Given the description of an element on the screen output the (x, y) to click on. 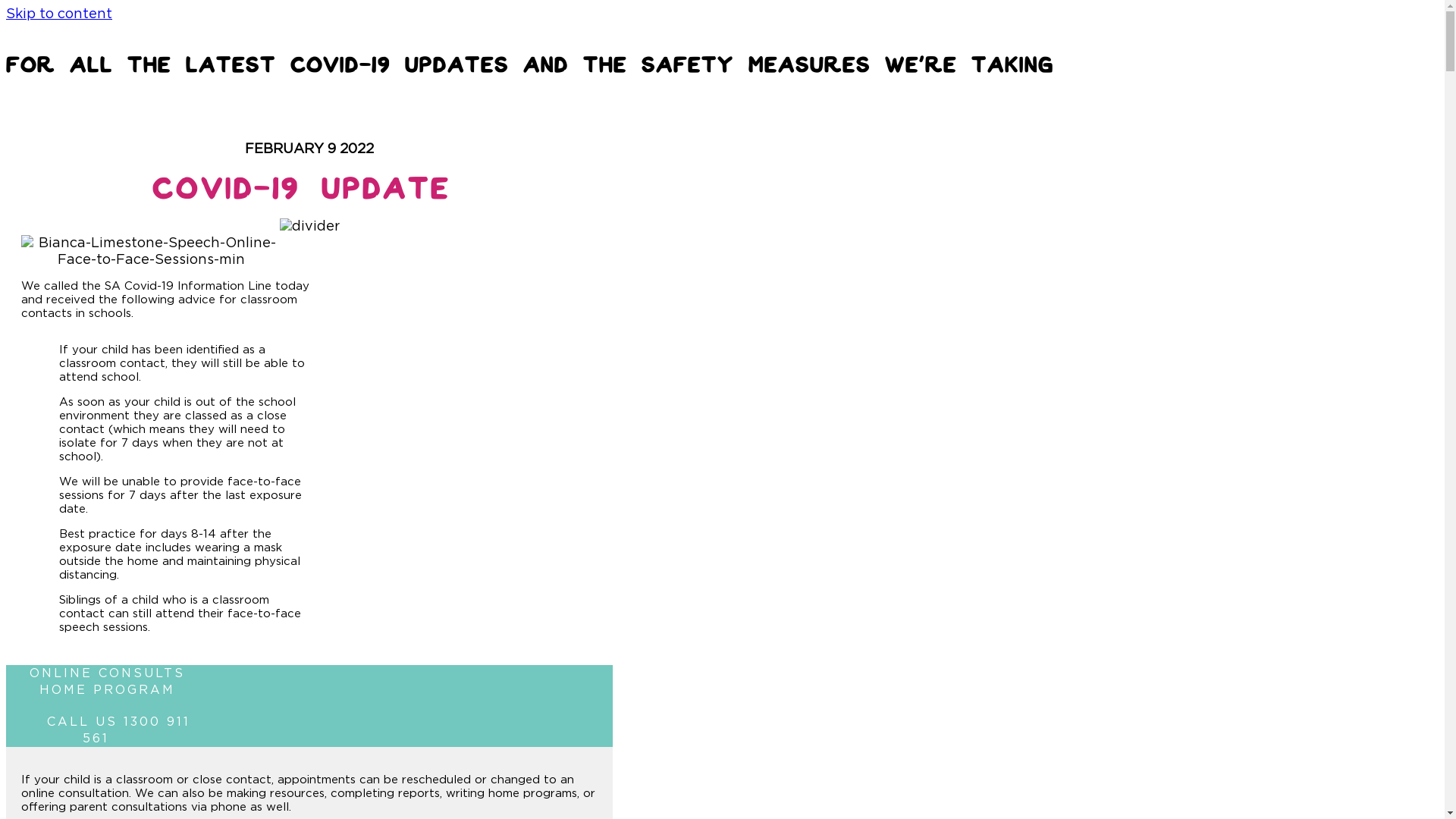
ONLINE CONSULTS Element type: text (106, 672)
Skip to content Element type: text (59, 14)
Bianca-Limestone-Speech-Online-Face-to-Face-Sessions-min Element type: hover (150, 251)
CALL US 1300 911 561 Element type: text (107, 730)
HOME PROGRAM Element type: text (106, 689)
divider Element type: hover (308, 226)
